Given the description of an element on the screen output the (x, y) to click on. 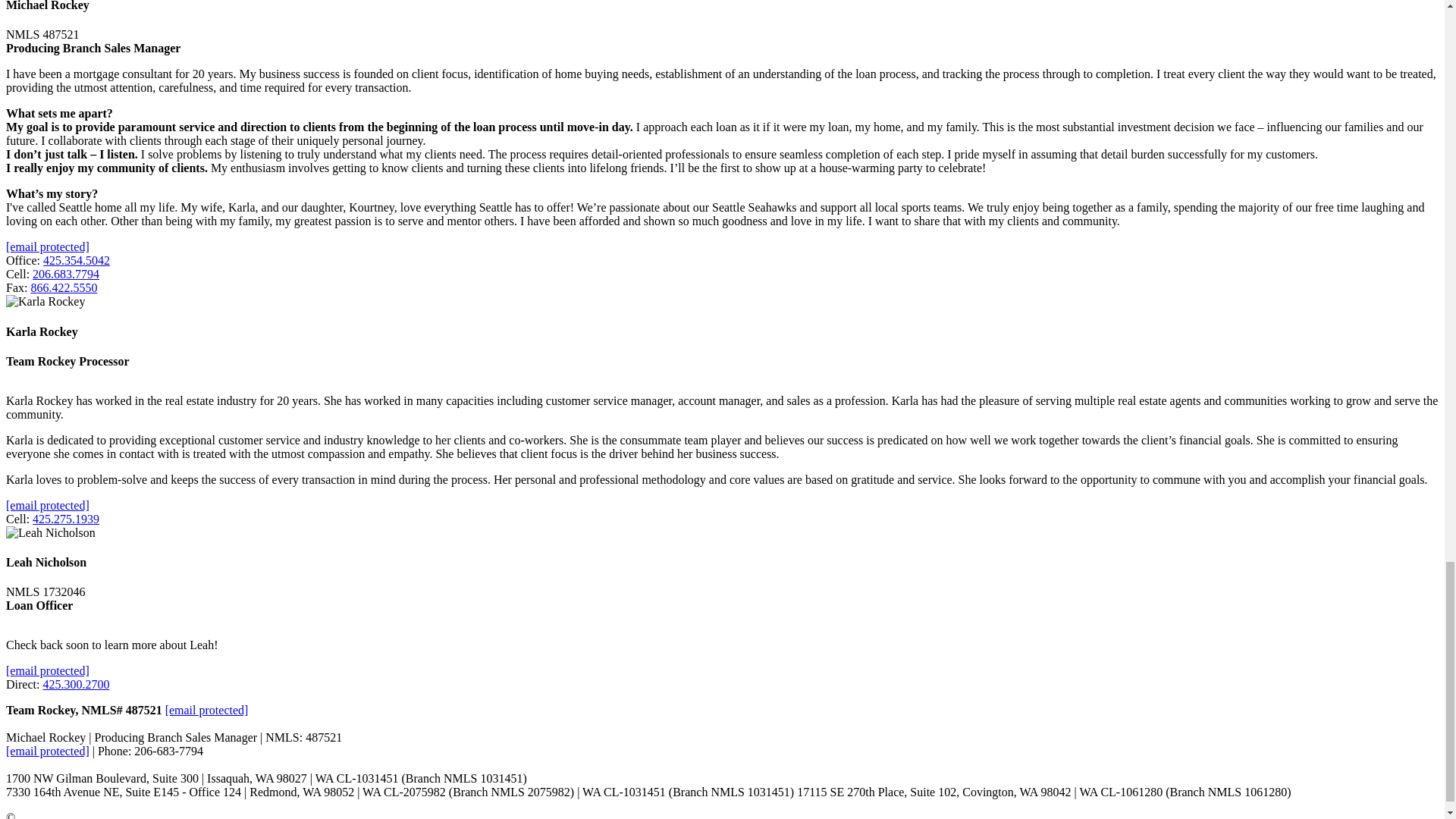
425.354.5042 (76, 259)
866.422.5550 (63, 287)
206.683.7794 (65, 273)
425.300.2700 (75, 684)
425.275.1939 (65, 518)
